Given the description of an element on the screen output the (x, y) to click on. 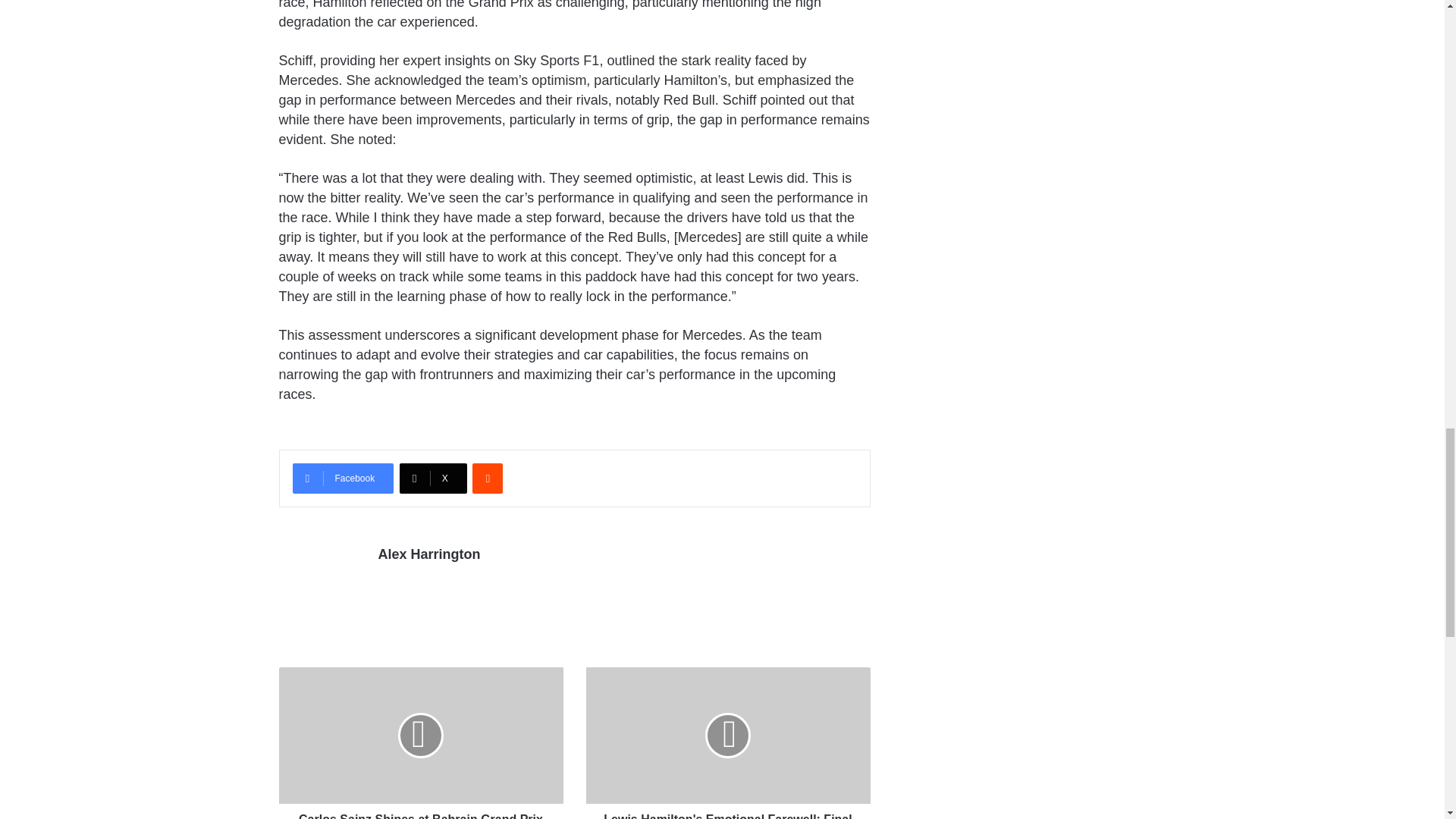
X (432, 478)
Facebook (343, 478)
Reddit (486, 478)
